Given the description of an element on the screen output the (x, y) to click on. 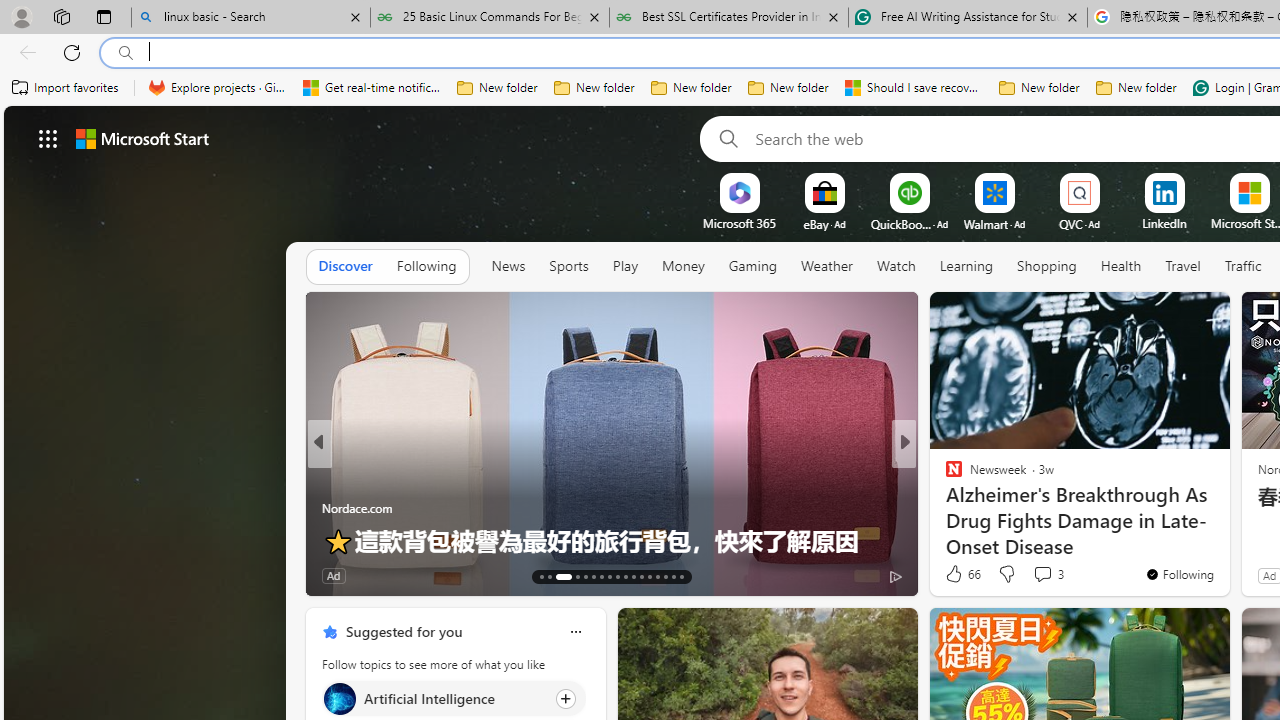
View comments 3 Comment (1048, 574)
80 Like (340, 574)
View comments 26 Comment (1042, 575)
AutomationID: waffle (47, 138)
Shopping (1047, 265)
View comments 2 Comment (1036, 575)
View comments 1 Comment (1028, 575)
Watch (895, 265)
AutomationID: tab-26 (656, 576)
View comments 115 Comment (1054, 574)
